Given the description of an element on the screen output the (x, y) to click on. 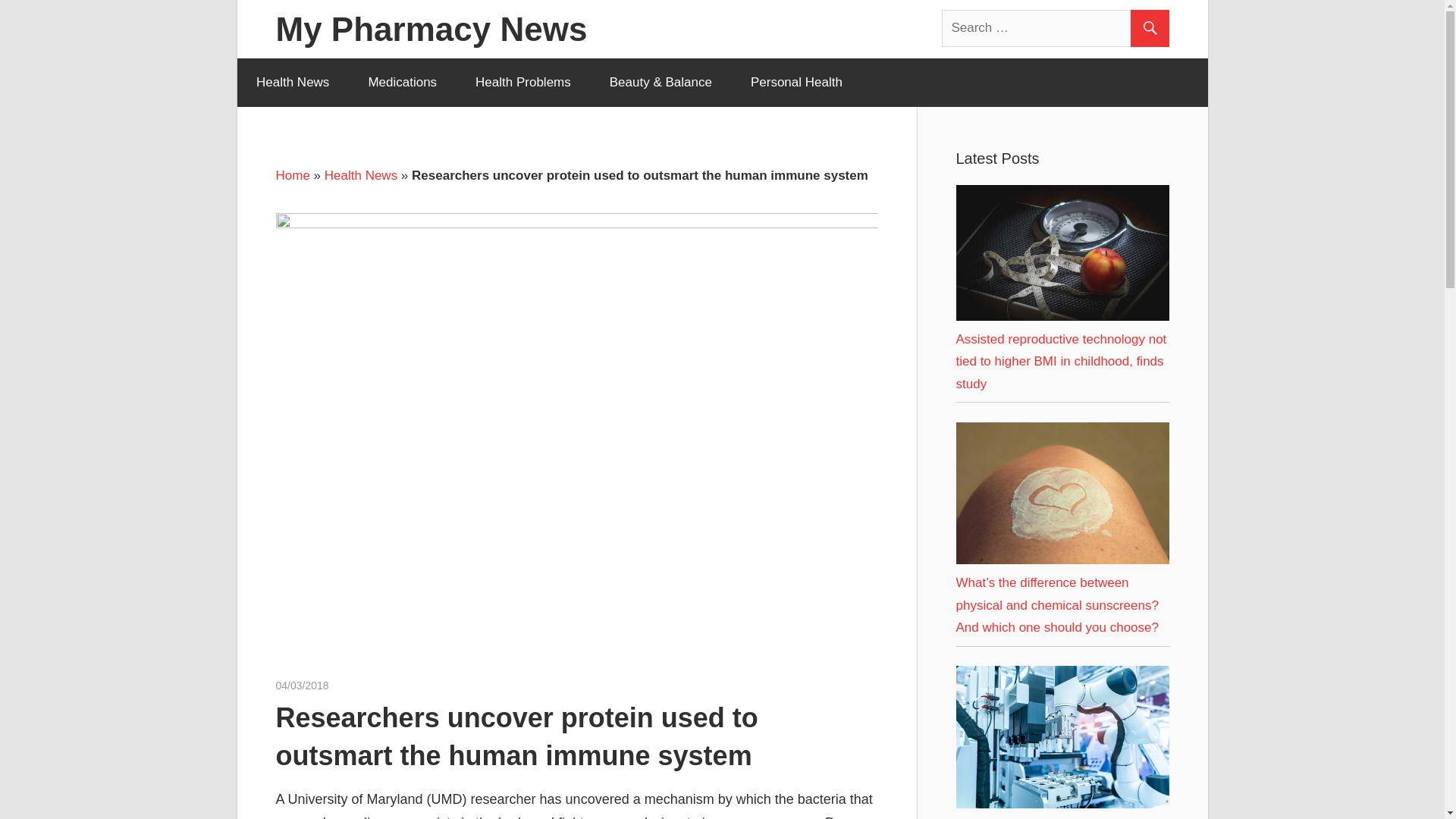
My Pharmacy News (432, 28)
Health News (360, 175)
Health Problems (524, 82)
00:47 (302, 685)
Search for: (1055, 27)
Medications (403, 82)
Home (293, 175)
Health News (291, 82)
Personal Health (795, 82)
